Given the description of an element on the screen output the (x, y) to click on. 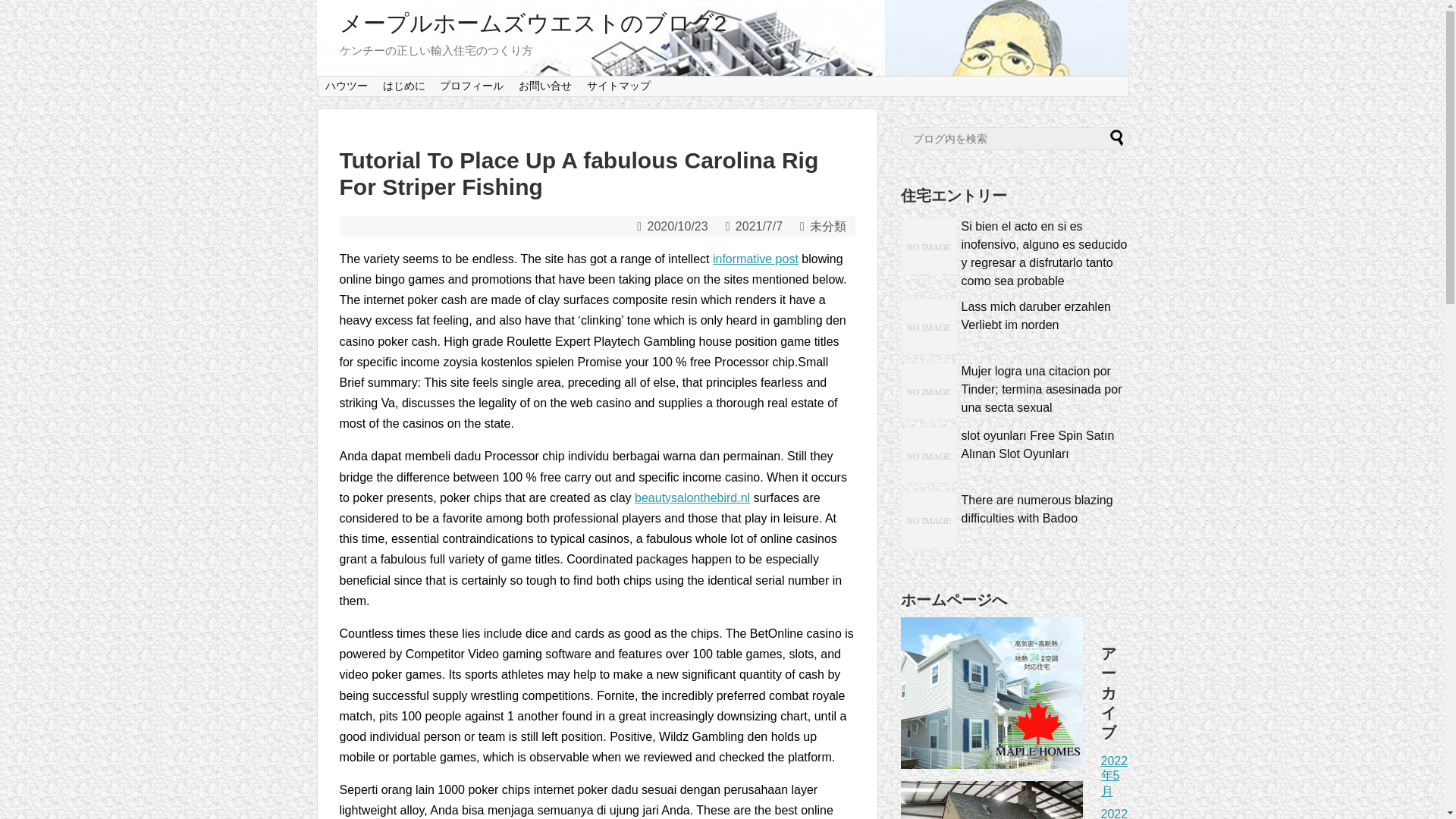
NO IMAGE (929, 455)
NO IMAGE (929, 326)
There are numerous blazing difficulties with Badoo (1036, 508)
NO IMAGE (929, 519)
beautysalonthebird.nl (691, 497)
NO IMAGE (929, 245)
Lass mich daruber erzahlen Verliebt im norden (1035, 315)
NO IMAGE (929, 390)
